Given the description of an element on the screen output the (x, y) to click on. 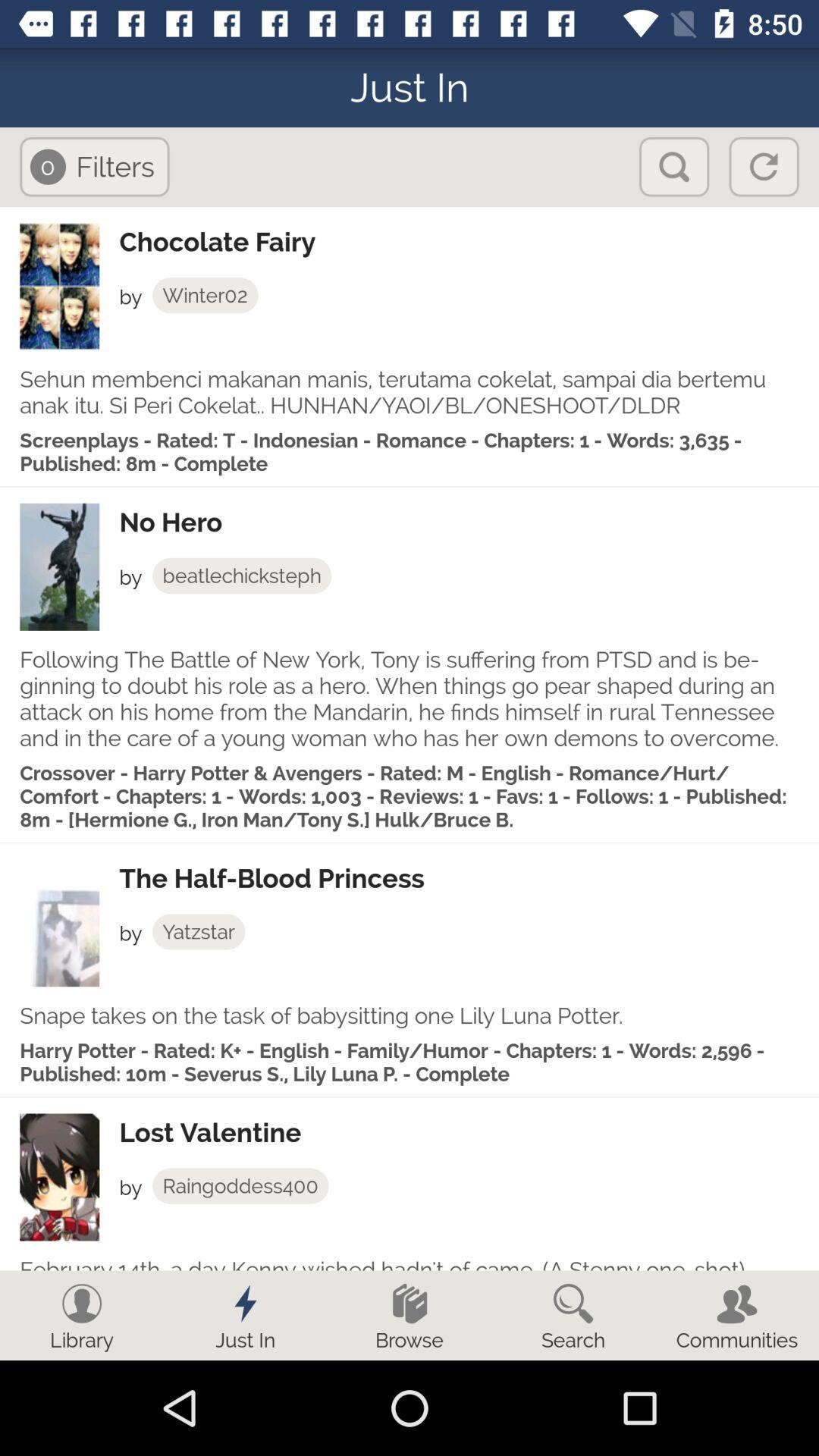
flip to the crossover harry potter item (409, 796)
